Given the description of an element on the screen output the (x, y) to click on. 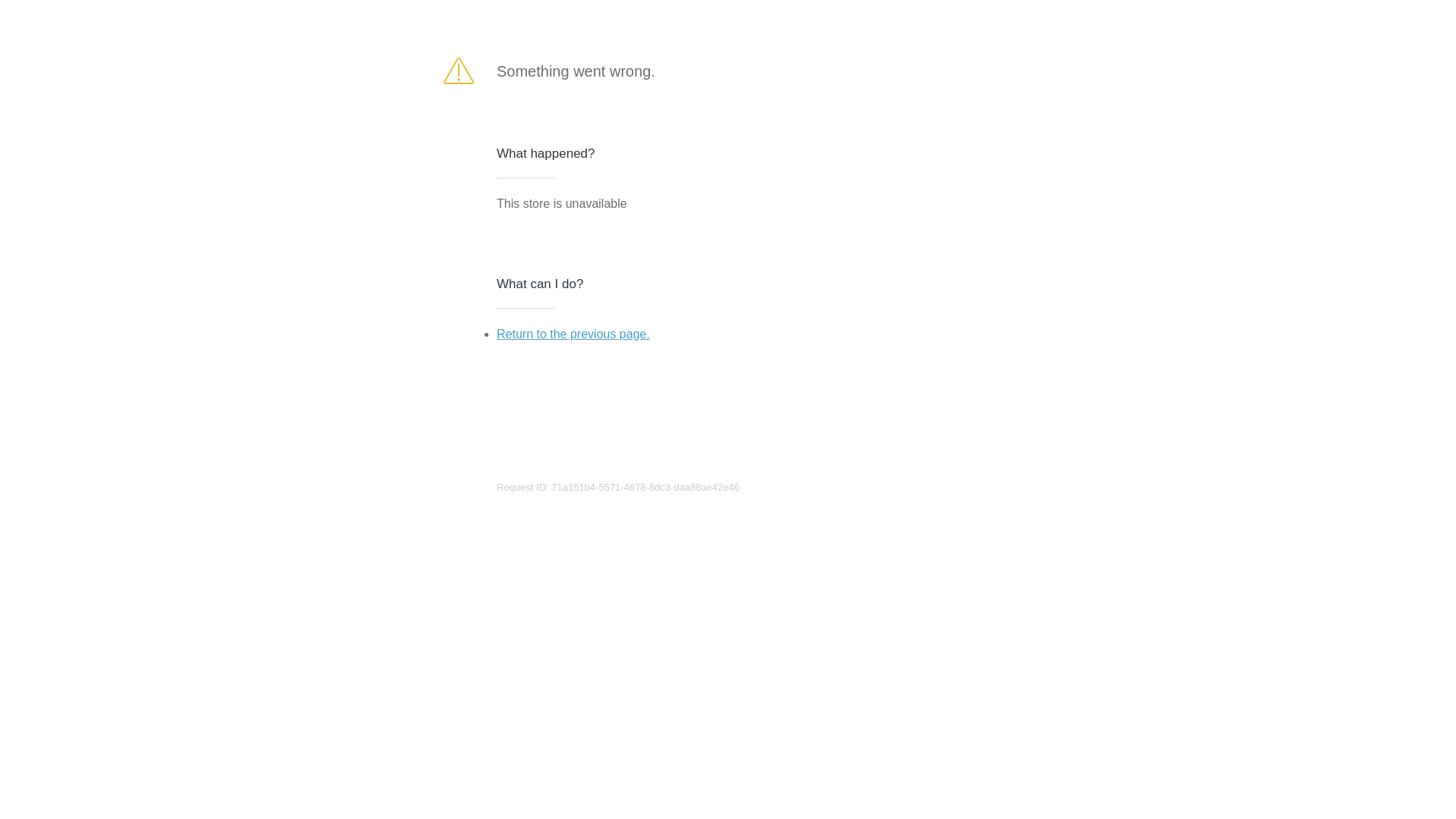
Return to the previous page. Element type: text (572, 333)
